Given the description of an element on the screen output the (x, y) to click on. 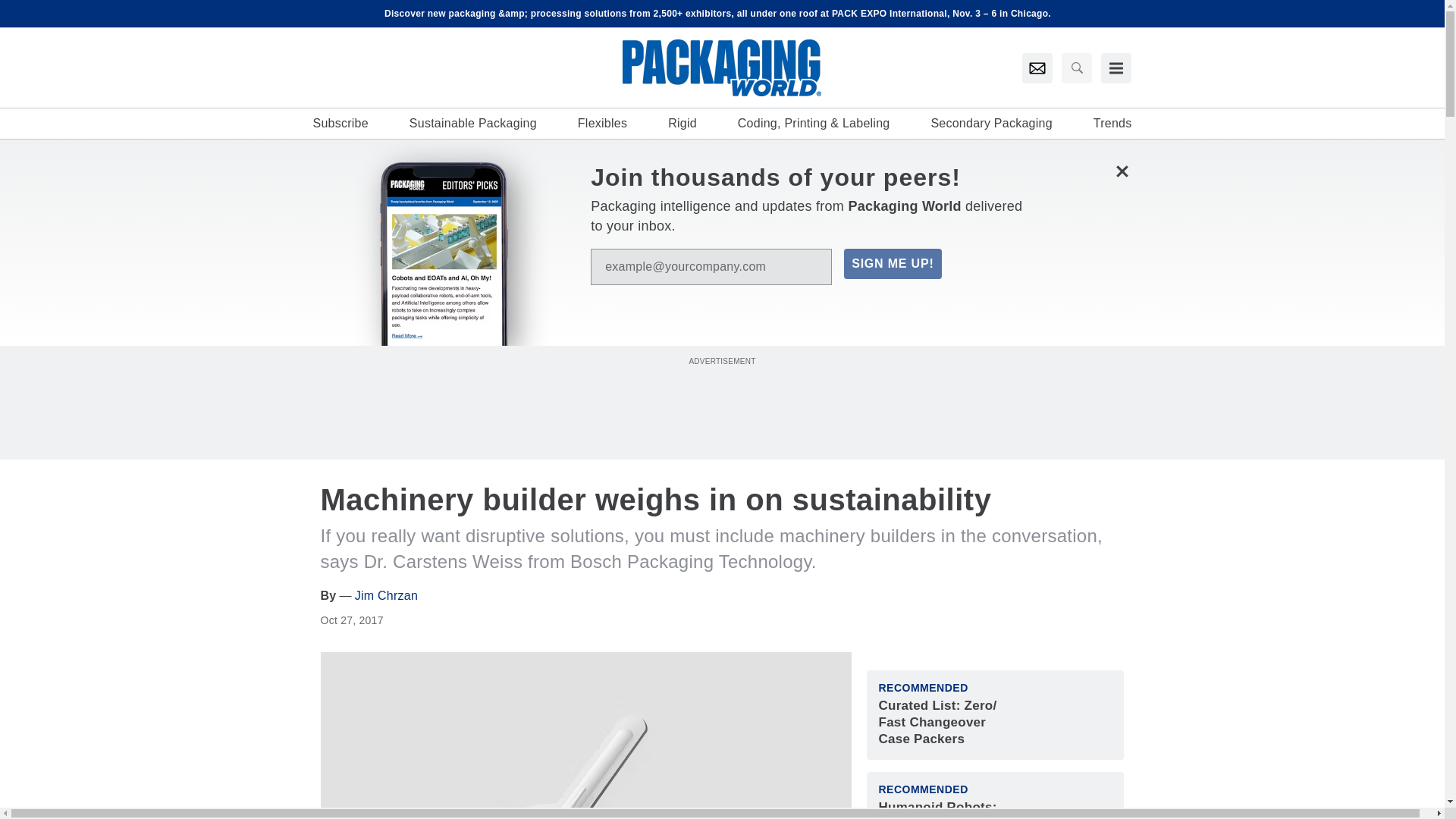
Secondary Packaging (990, 123)
SIGN ME UP! (892, 263)
Sustainable Packaging (473, 123)
Rigid (682, 123)
Recommended (922, 788)
Recommended (922, 687)
Subscribe (340, 123)
Trends (1112, 123)
Flexibles (602, 123)
